Given the description of an element on the screen output the (x, y) to click on. 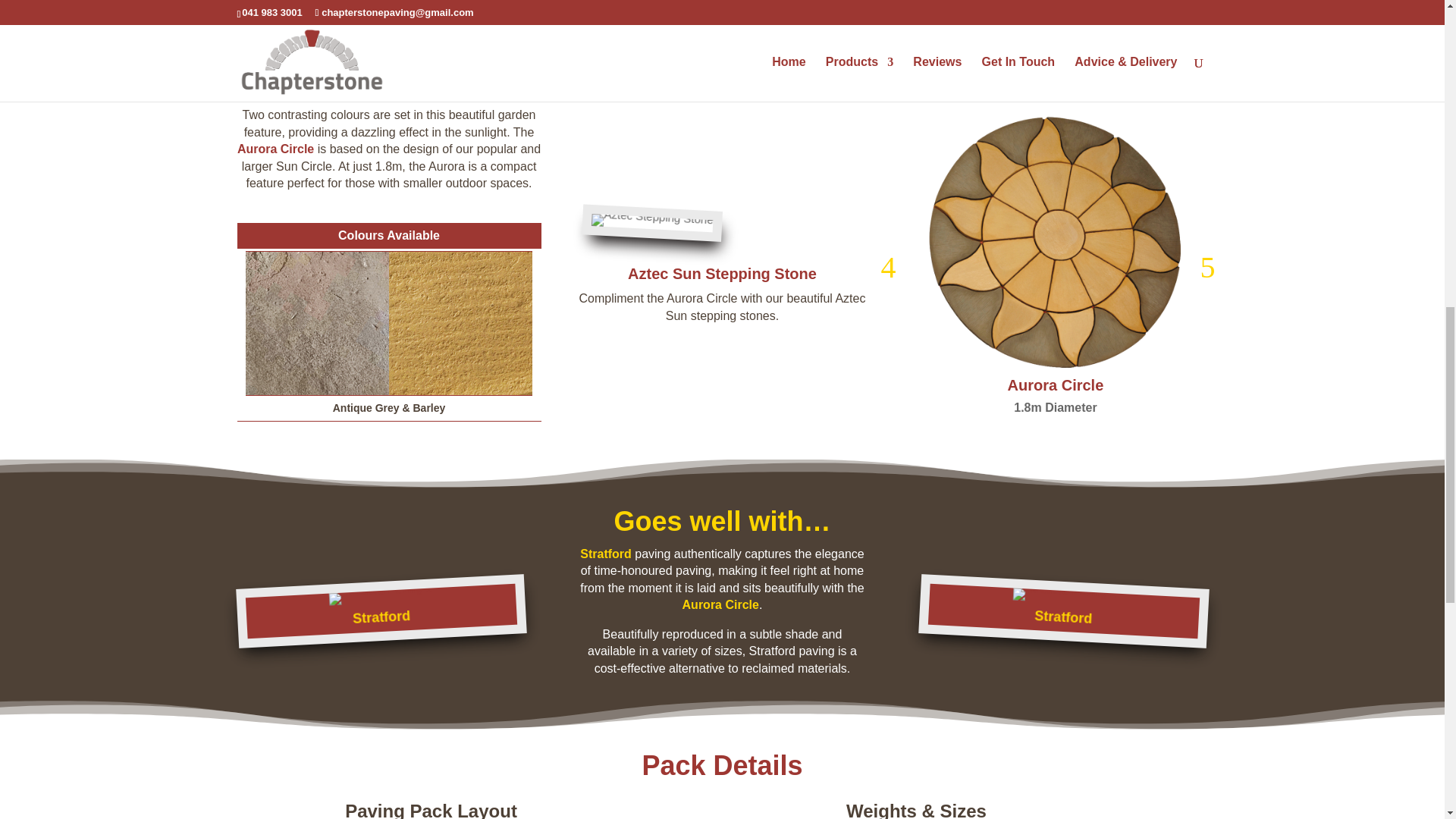
Stratford Paving 2 (1063, 594)
Aztec Stepping Stone (652, 219)
Stratford Paving 1 (379, 594)
